Given the description of an element on the screen output the (x, y) to click on. 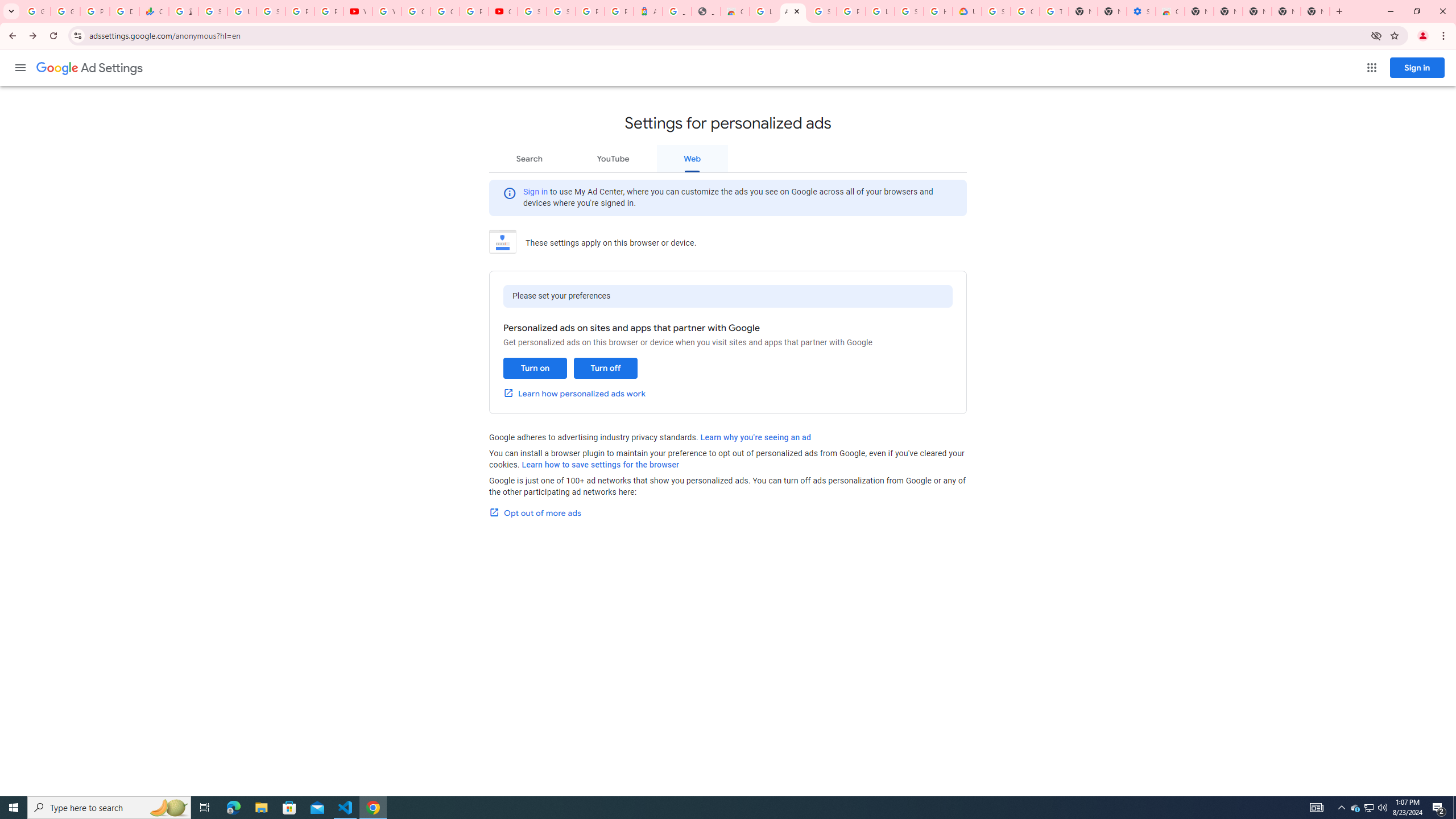
Search tabs (10, 11)
YouTube (357, 11)
Google Workspace Admin Community (35, 11)
Google apps (1371, 67)
Chrome (1445, 35)
New Tab (1198, 11)
Sign in - Google Accounts (531, 11)
Currencies - Google Finance (153, 11)
New Tab (1315, 11)
